Given the description of an element on the screen output the (x, y) to click on. 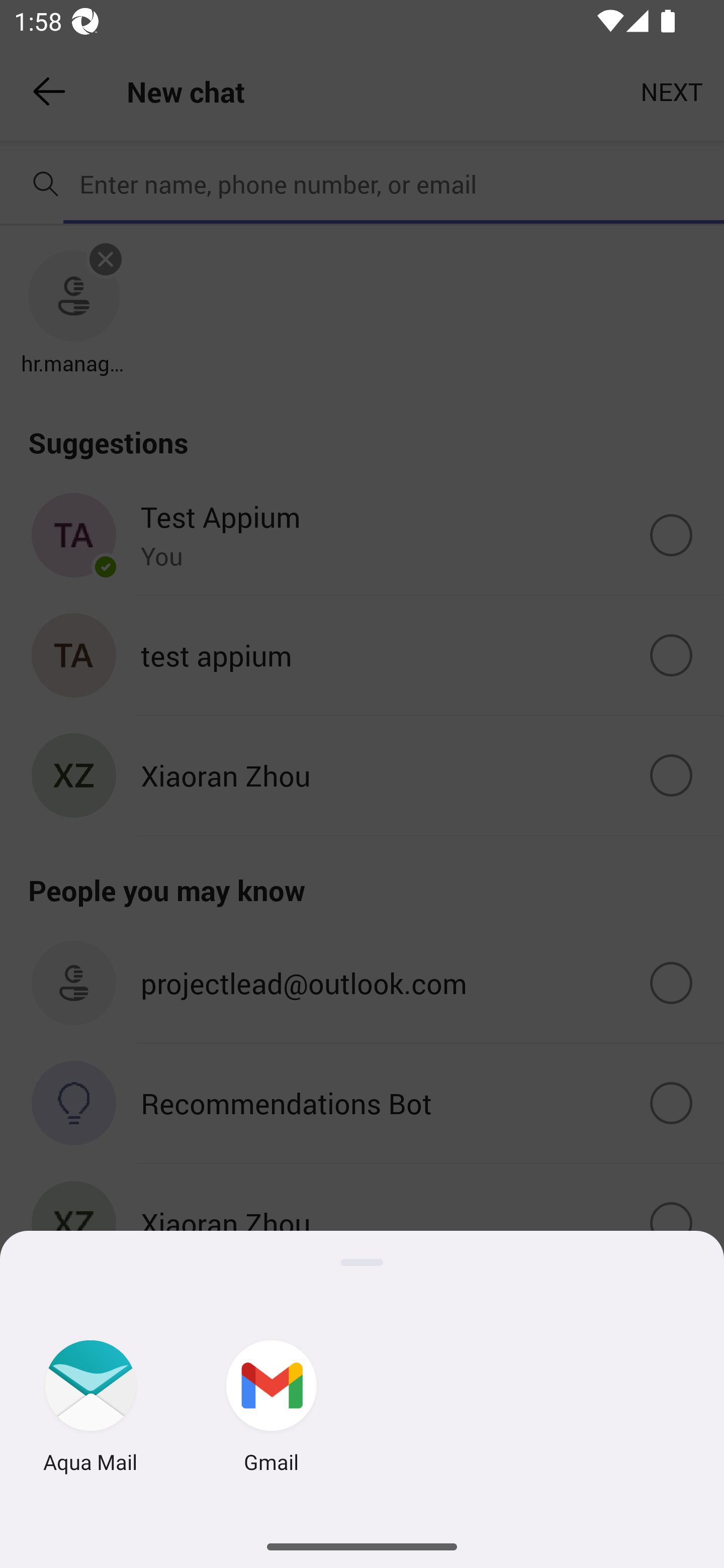
Aqua Mail (90, 1409)
Gmail (271, 1409)
